Given the description of an element on the screen output the (x, y) to click on. 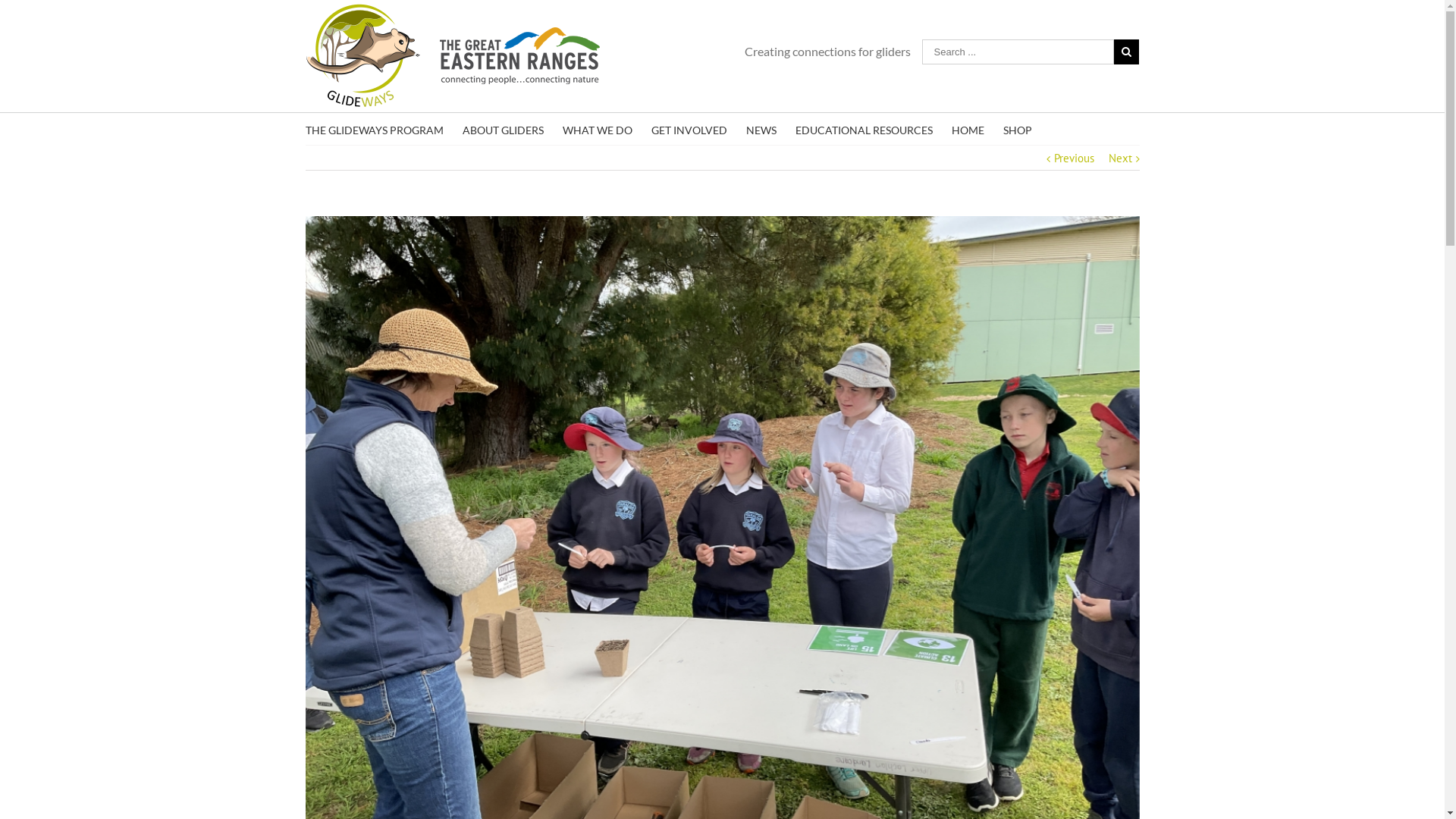
NEWS Element type: text (761, 128)
Next Element type: text (1120, 158)
THE GLIDEWAYS PROGRAM Element type: text (373, 128)
SHOP Element type: text (1016, 128)
ABOUT GLIDERS Element type: text (502, 128)
HOME Element type: text (966, 128)
WHAT WE DO Element type: text (597, 128)
Previous Element type: text (1074, 158)
GET INVOLVED Element type: text (688, 128)
EDUCATIONAL RESOURCES Element type: text (862, 128)
